Given the description of an element on the screen output the (x, y) to click on. 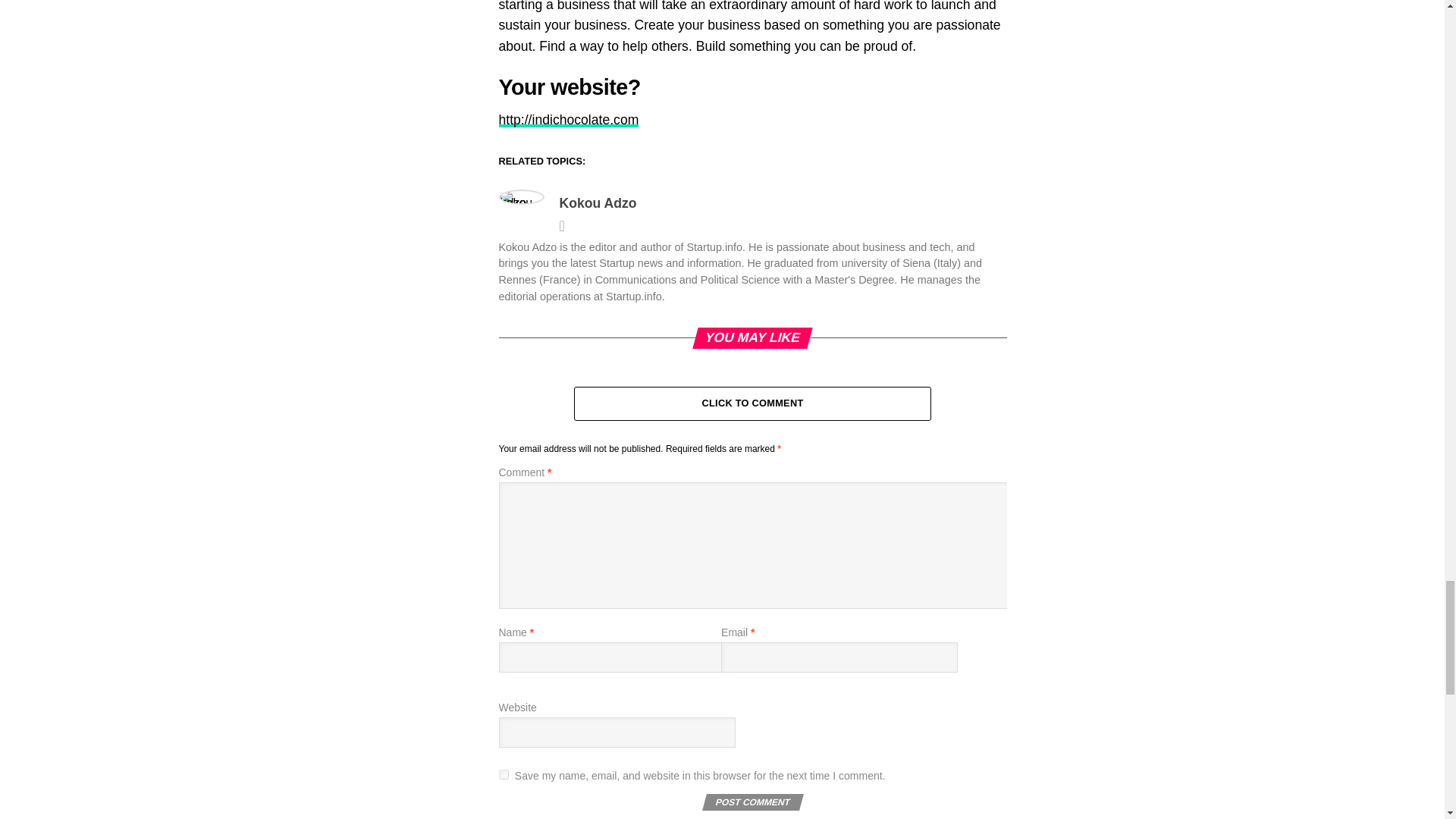
Post Comment (750, 801)
yes (503, 774)
